Given the description of an element on the screen output the (x, y) to click on. 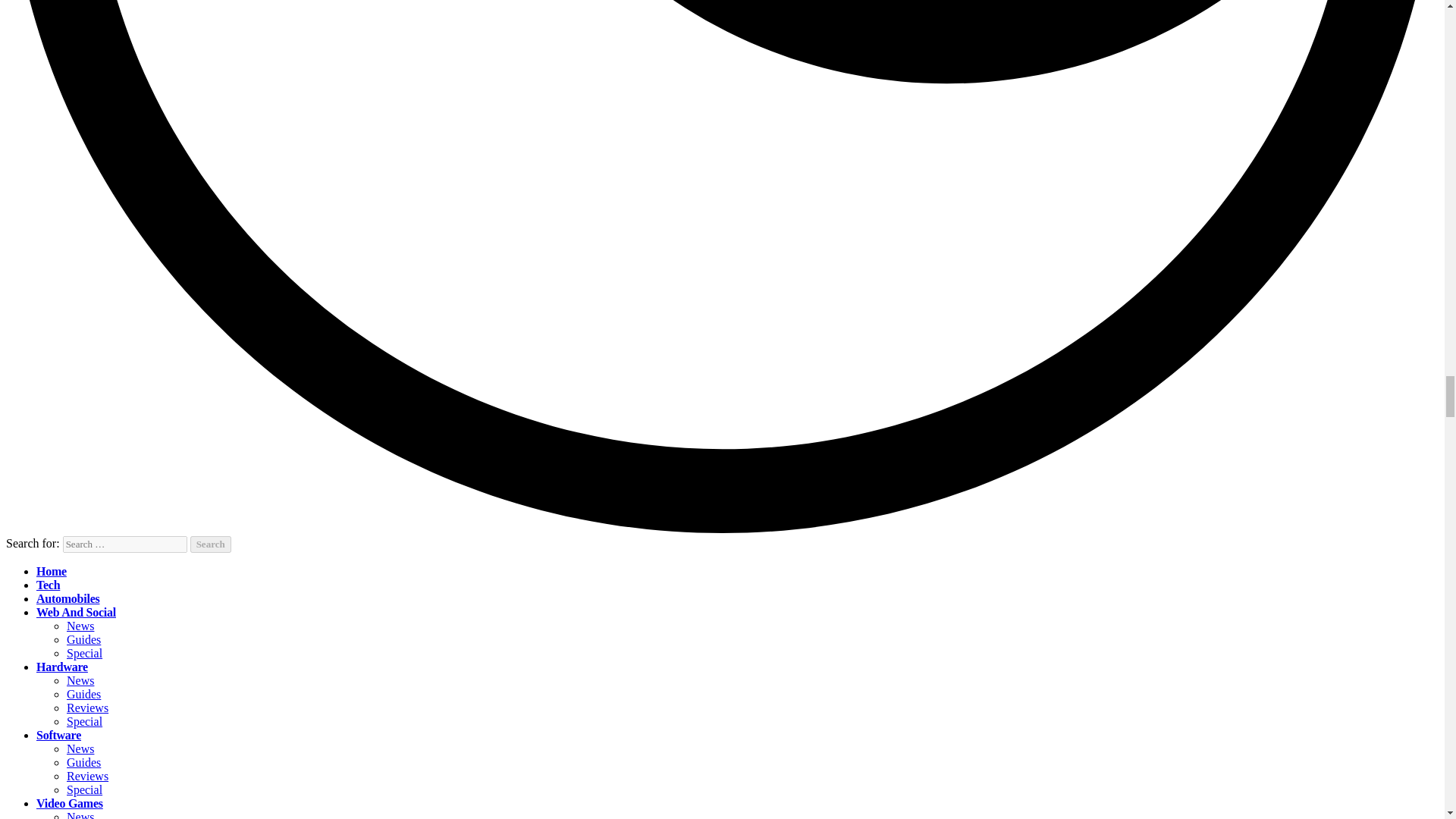
Search (210, 544)
Search (210, 544)
